Given the description of an element on the screen output the (x, y) to click on. 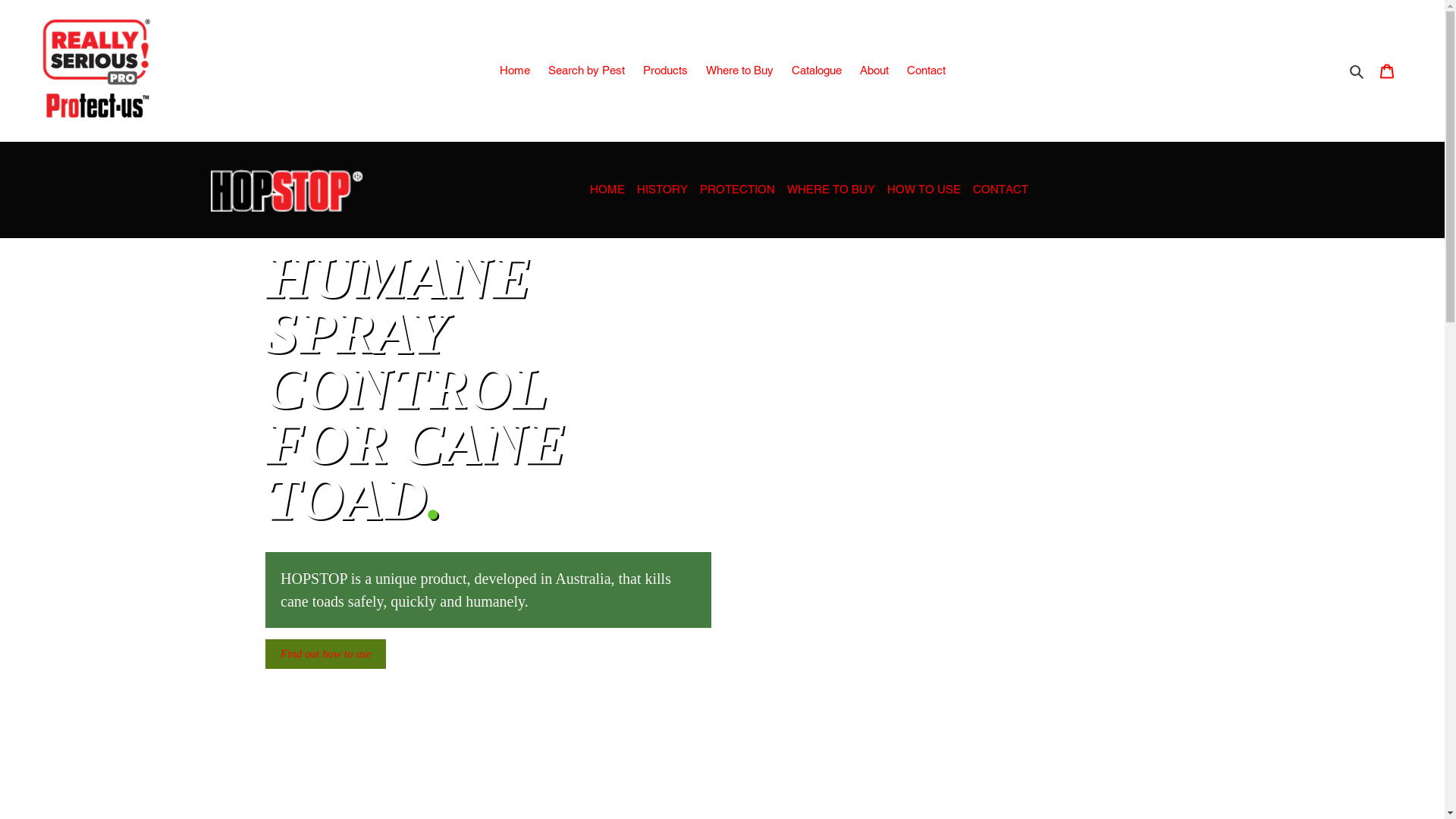
Catalogue Element type: text (816, 70)
Find out how to use Element type: text (325, 653)
CONTACT Element type: text (1000, 189)
Search Element type: text (1357, 70)
Home Element type: text (513, 70)
PROTECTION Element type: text (737, 189)
HOME Element type: text (606, 189)
Search by Pest Element type: text (585, 70)
WHERE TO BUY Element type: text (831, 189)
HISTORY Element type: text (662, 189)
About Element type: text (874, 70)
Contact Element type: text (926, 70)
HOW TO USE Element type: text (923, 189)
Cart Element type: text (1386, 70)
Where to Buy Element type: text (738, 70)
Products Element type: text (665, 70)
